Given the description of an element on the screen output the (x, y) to click on. 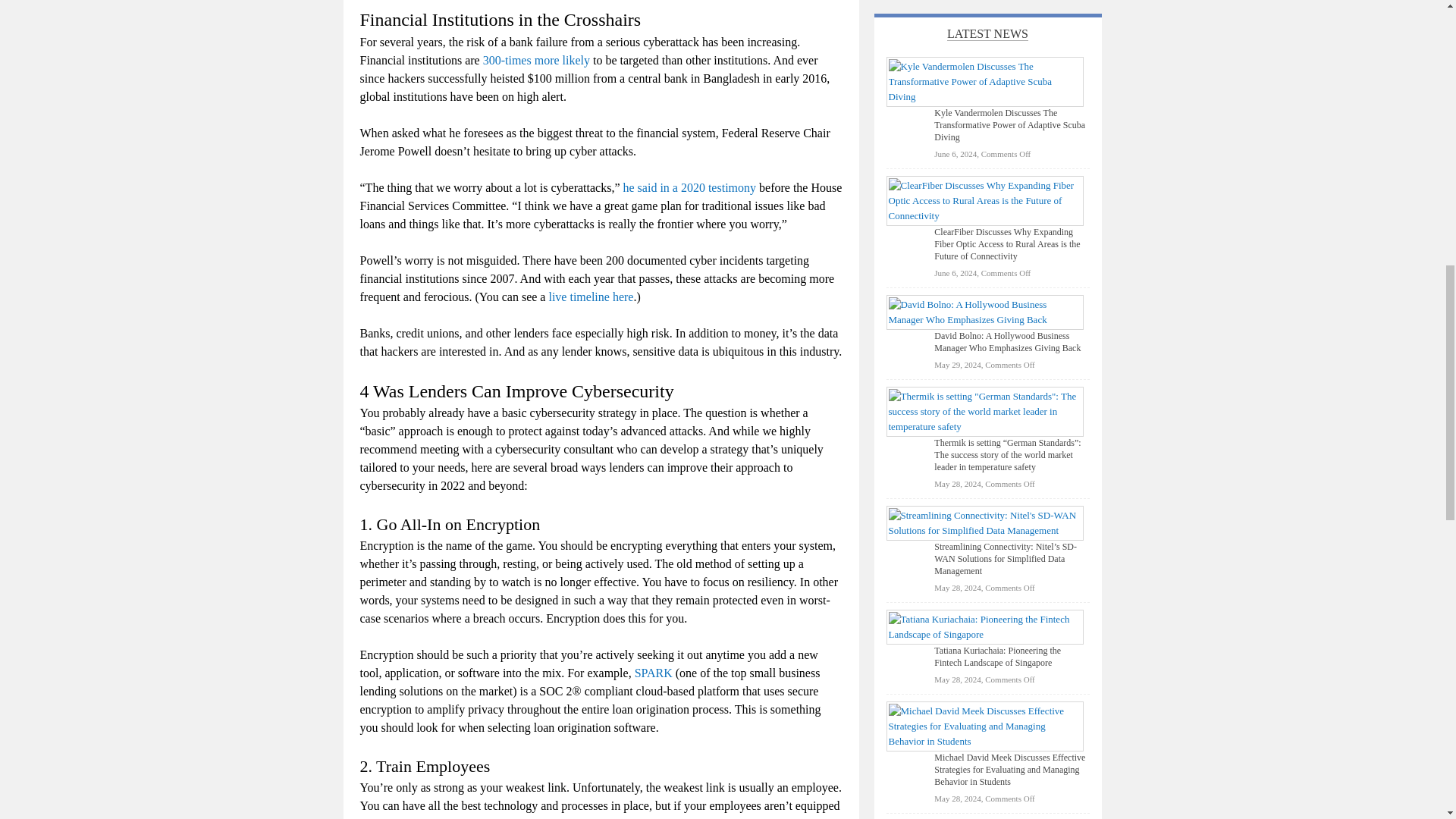
300-times more likely (536, 60)
SPARK (653, 672)
live timeline here (590, 296)
he said in a 2020 testimony (690, 187)
